Given the description of an element on the screen output the (x, y) to click on. 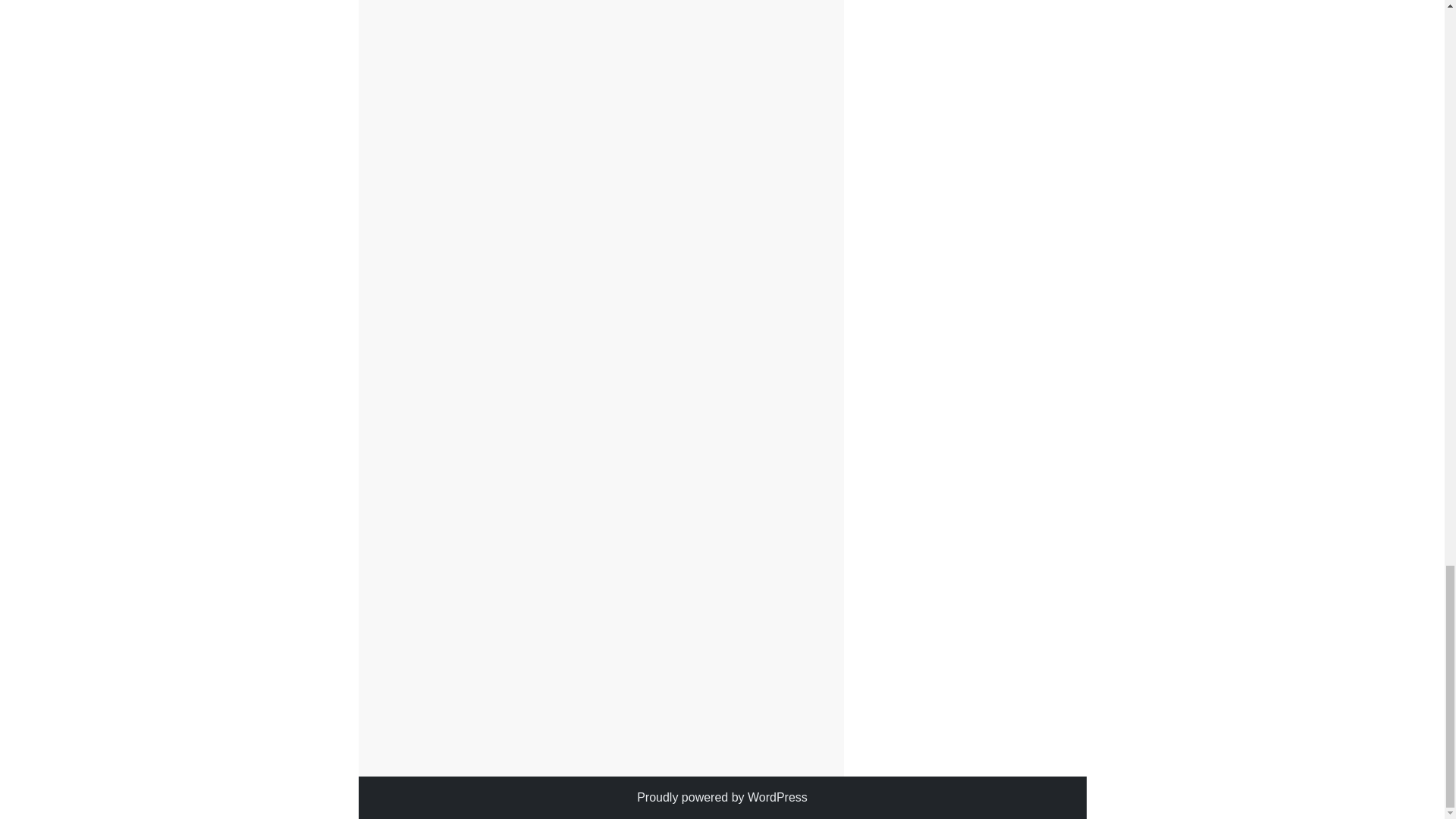
keluaran togel hongkong (592, 662)
angka togel hongkong (471, 653)
Gambling (449, 635)
togel hk (763, 671)
result togel hongkong (678, 671)
togel hkg (593, 680)
data togel hongkong (593, 653)
togel hongkong (437, 689)
pengeluaran togel hongkong (536, 671)
info togel hongkong (708, 653)
